Given the description of an element on the screen output the (x, y) to click on. 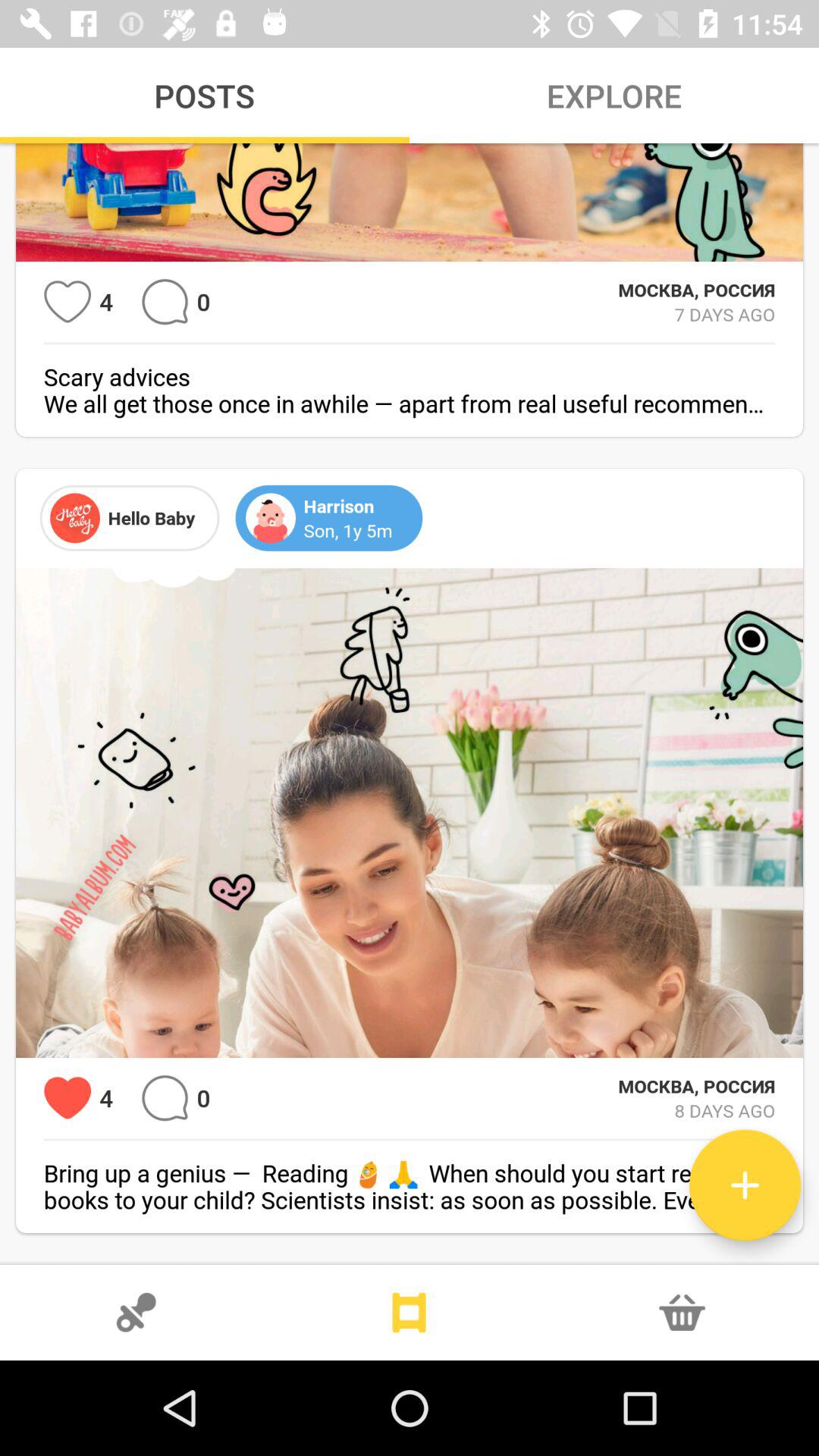
like post (67, 301)
